Given the description of an element on the screen output the (x, y) to click on. 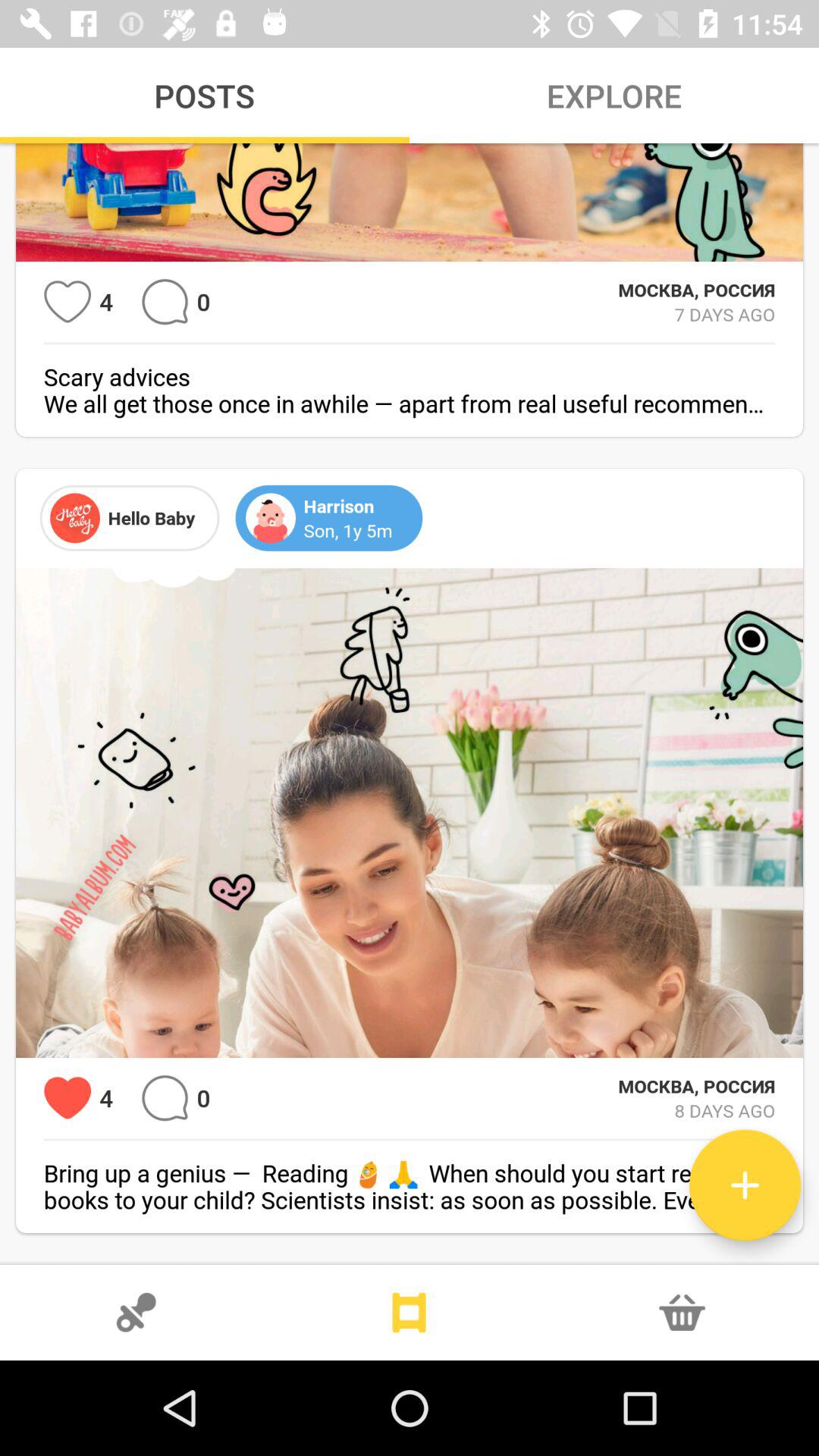
like post (67, 301)
